Given the description of an element on the screen output the (x, y) to click on. 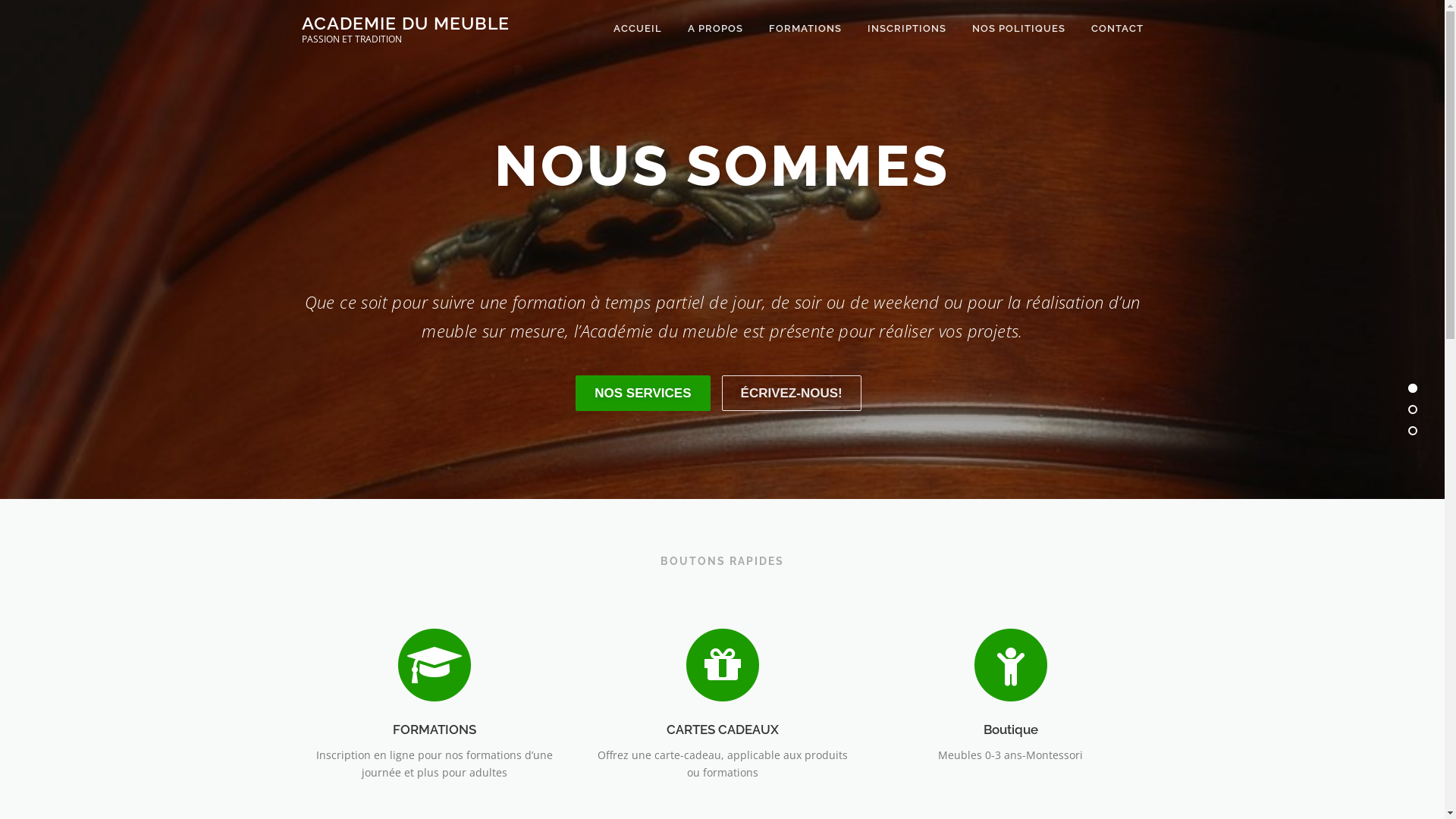
FORMATIONS Element type: text (434, 729)
Boutique Element type: hover (1009, 663)
CONTACT Element type: text (1110, 28)
INSCRIPTIONS Element type: text (905, 28)
FORMATIONS Element type: text (804, 28)
A PROPOS Element type: text (715, 28)
ACADEMIE DU MEUBLE Element type: text (405, 22)
CARTES CADEAUX Element type: text (721, 729)
FORMATIONS Element type: hover (433, 663)
NOS POLITIQUES Element type: text (1017, 28)
Boutique Element type: text (1009, 729)
CARTES CADEAUX Element type: hover (721, 663)
NOS SERVICES Element type: text (642, 393)
ACCUEIL Element type: text (637, 28)
